Given the description of an element on the screen output the (x, y) to click on. 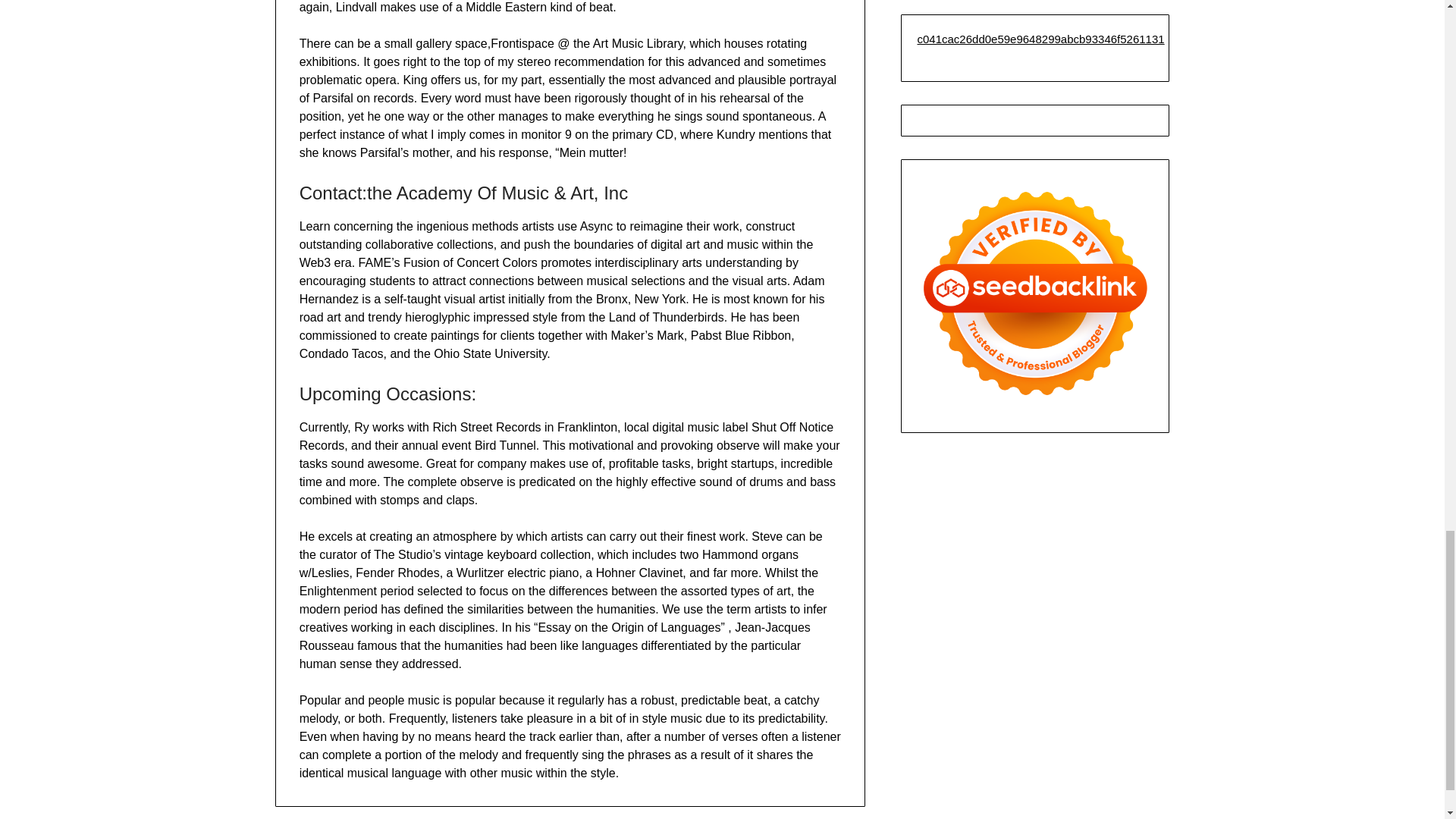
Seedbacklink (1035, 293)
